Given the description of an element on the screen output the (x, y) to click on. 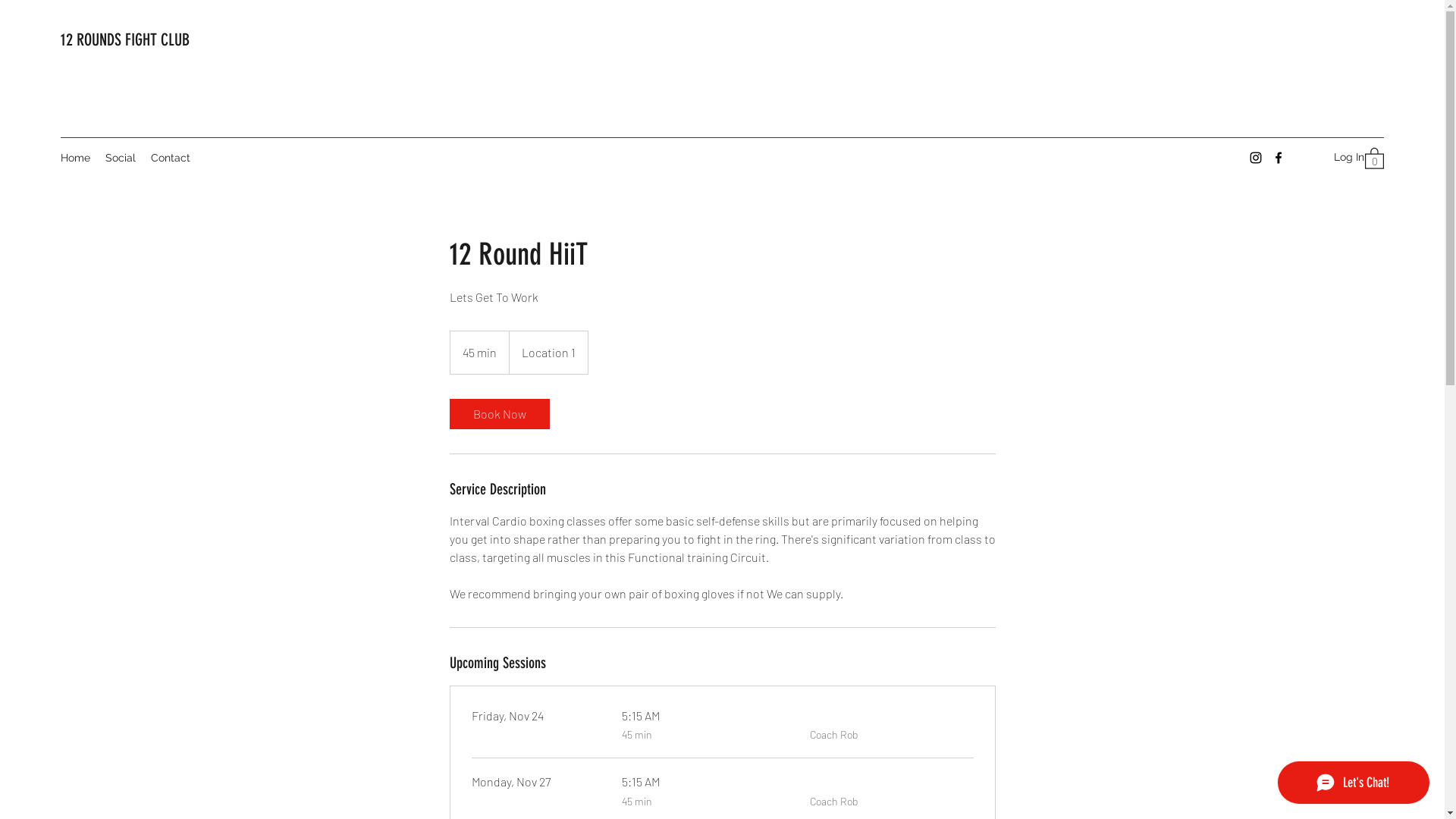
Home Element type: text (75, 157)
Log In Element type: text (1334, 157)
0 Element type: text (1374, 157)
Book Now Element type: text (498, 413)
12 ROUNDS FIGHT CLUB Element type: text (124, 39)
Social Element type: text (120, 157)
Contact Element type: text (170, 157)
